Given the description of an element on the screen output the (x, y) to click on. 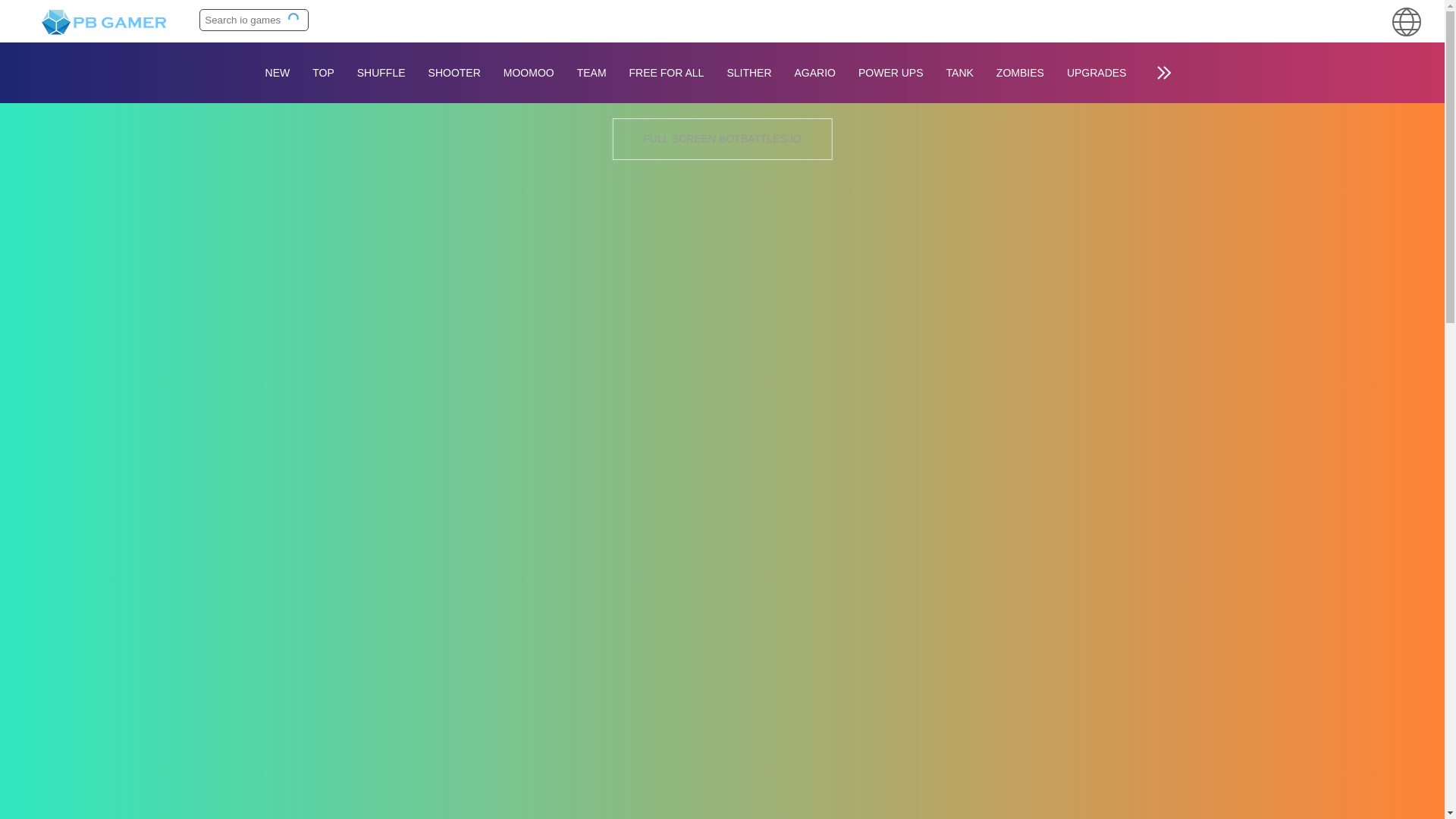
POWER UPS (890, 72)
SLITHER (748, 72)
Search (294, 19)
MOOMOO (529, 72)
SHOOTER (454, 72)
Search (294, 19)
AGARIO (814, 72)
FREE FOR ALL (666, 72)
UPGRADES (1096, 72)
SHUFFLE (381, 72)
ZOMBIES (1020, 72)
